Given the description of an element on the screen output the (x, y) to click on. 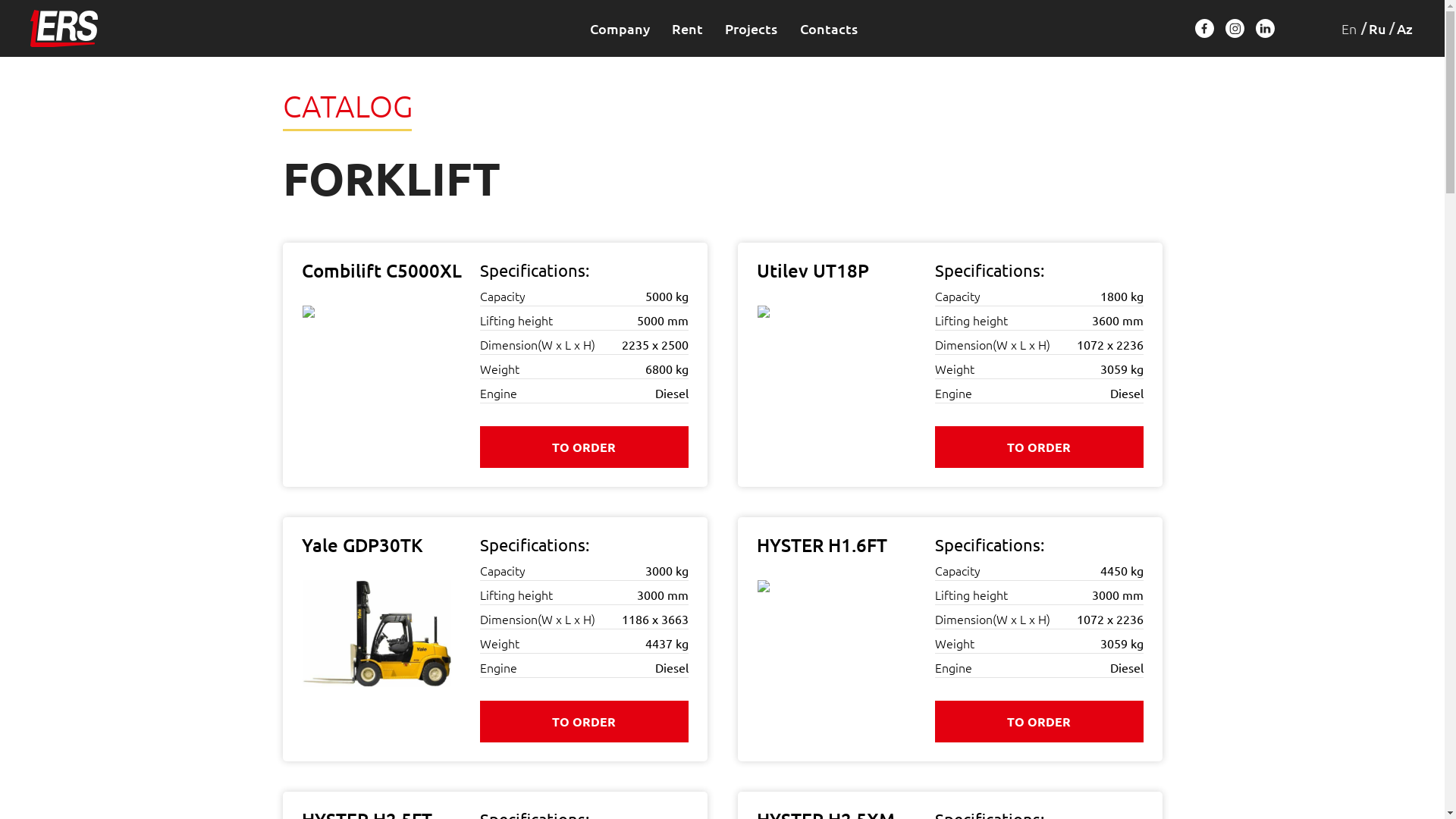
TO ORDER Element type: text (583, 721)
Company Element type: text (619, 28)
TO ORDER Element type: text (1038, 721)
Rent Element type: text (686, 28)
Ru Element type: text (1377, 28)
TO ORDER Element type: text (1038, 446)
Projects Element type: text (750, 28)
Az Element type: text (1404, 28)
TO ORDER Element type: text (583, 446)
Contacts Element type: text (828, 28)
